Given the description of an element on the screen output the (x, y) to click on. 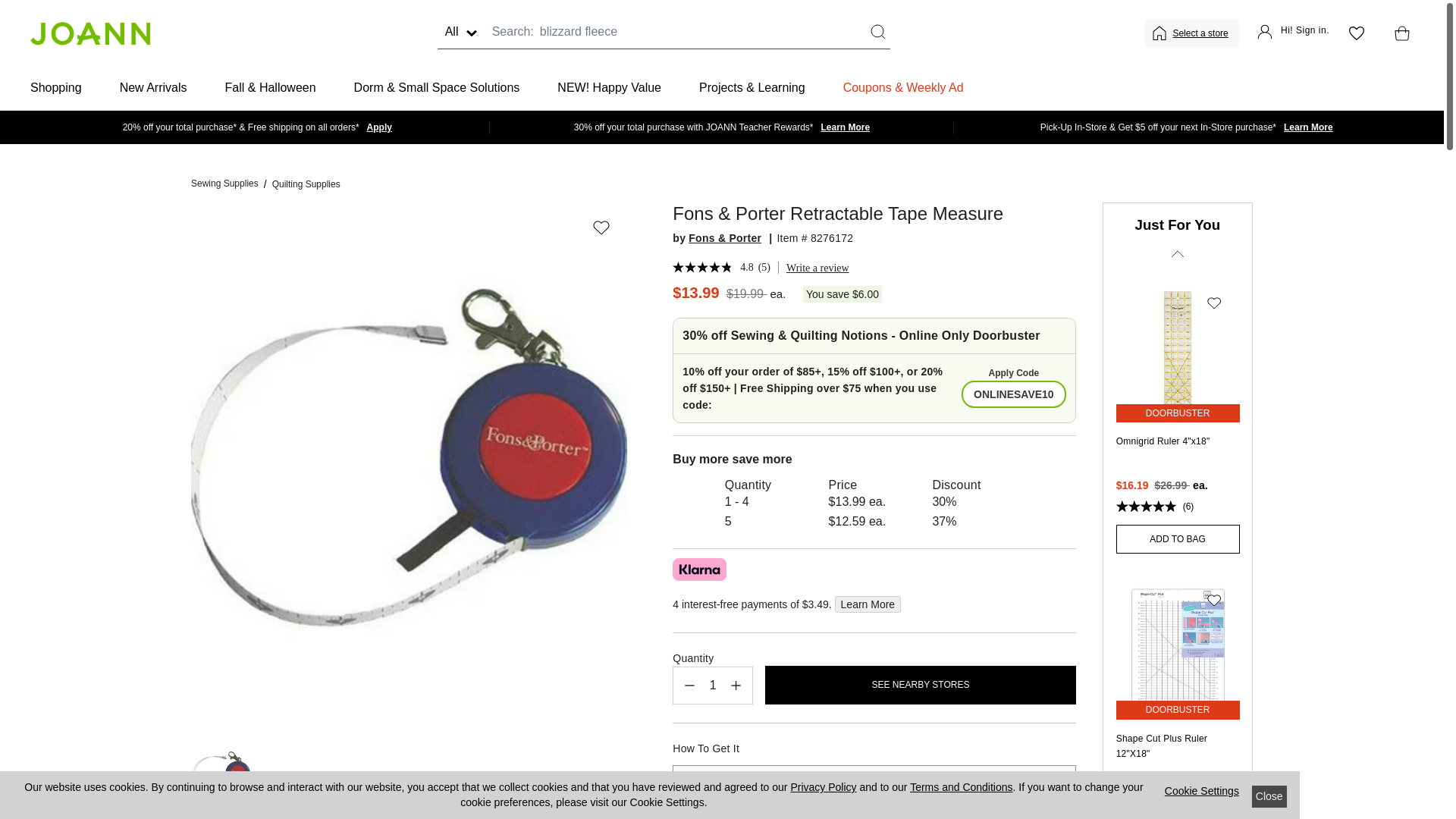
Shopping (55, 87)
1 (712, 685)
Hi! Sign in. (1293, 33)
View Cart (1398, 33)
JO-ANN STORES, LLC Home (89, 33)
Select a store (1201, 32)
Hi! Sign in. (1293, 33)
Favorites (1356, 33)
Sewing Supplies (224, 183)
Quilting Supplies (306, 184)
